Given the description of an element on the screen output the (x, y) to click on. 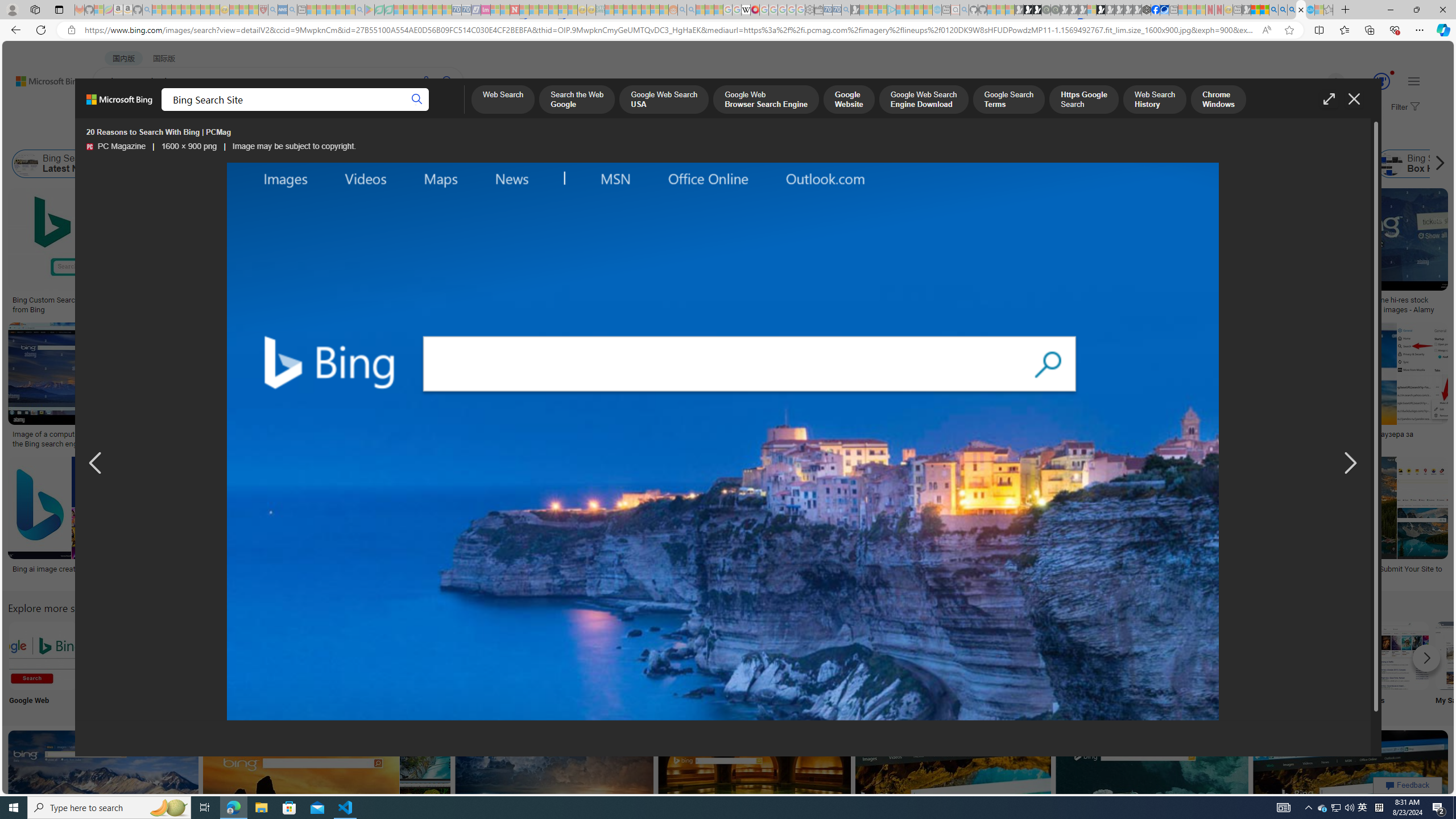
Bing Photo Search Microsoft Edge Microsoft Edge (268, 665)
Bing Can Now Search for Any Object in an ImageSave (1134, 387)
Bing Can Now Search for Any Object in an Image (1131, 434)
" Bing " search engine web page Stock Photo - Alamy (775, 438)
Terms of Use Agreement - Sleeping (378, 9)
Bing Movies Search (1393, 654)
Mugs (802, 296)
google - Search - Sleeping (359, 9)
MediaWiki (754, 9)
